Given the description of an element on the screen output the (x, y) to click on. 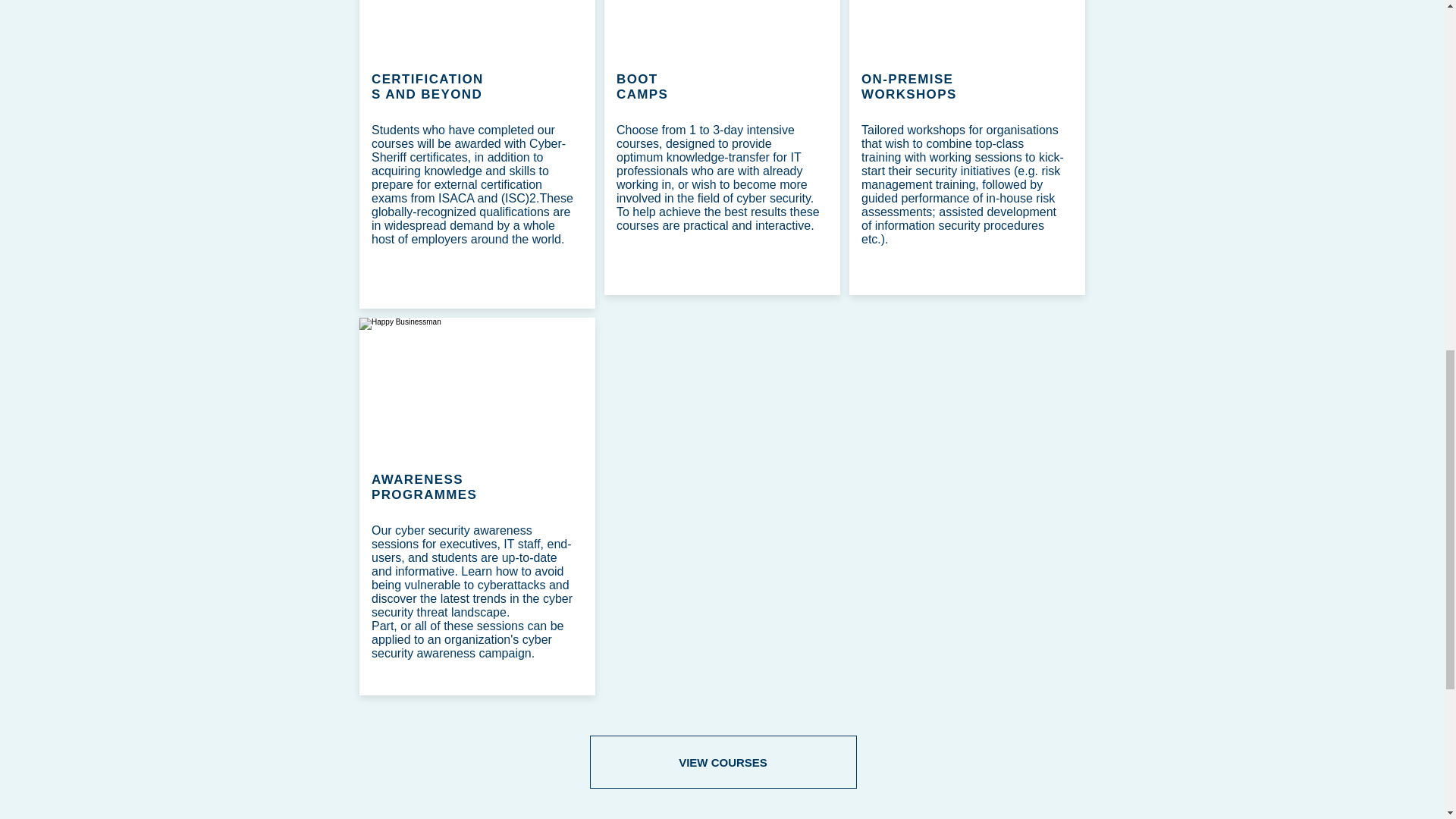
VIEW COURSES (723, 761)
